Given the description of an element on the screen output the (x, y) to click on. 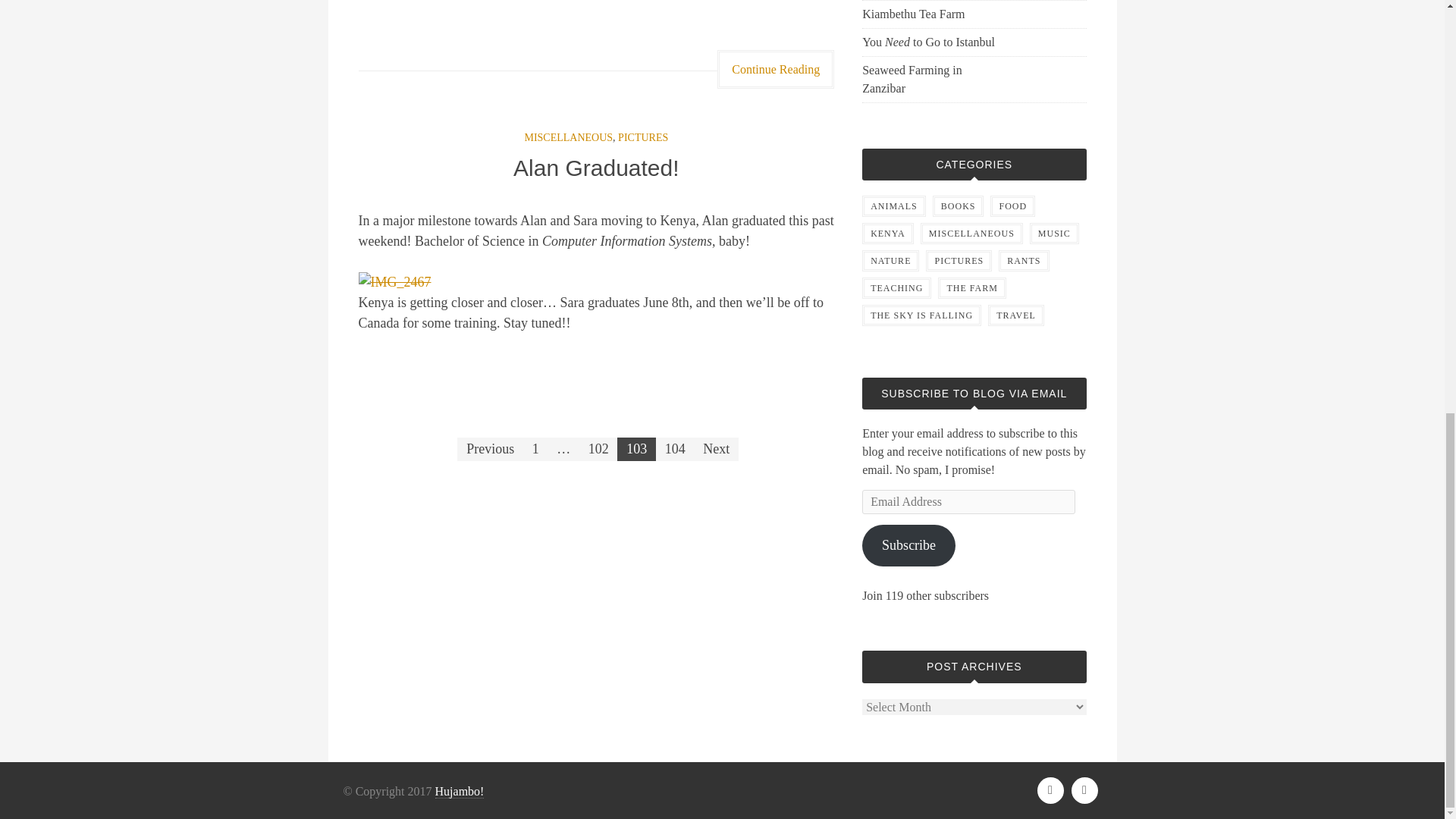
102 (598, 449)
ANIMALS (893, 206)
PICTURES (642, 137)
Alan Graduation Gown (394, 281)
KENYA (887, 233)
Next (716, 449)
Alan Graduated! (595, 167)
MISCELLANEOUS (971, 233)
FOOD (1012, 206)
You Need to Go to Istanbul (934, 42)
Seaweed Farming in Zanzibar (934, 79)
Previous (489, 449)
Kiambethu Tea Farm (934, 13)
104 (675, 449)
MISCELLANEOUS (568, 137)
